Given the description of an element on the screen output the (x, y) to click on. 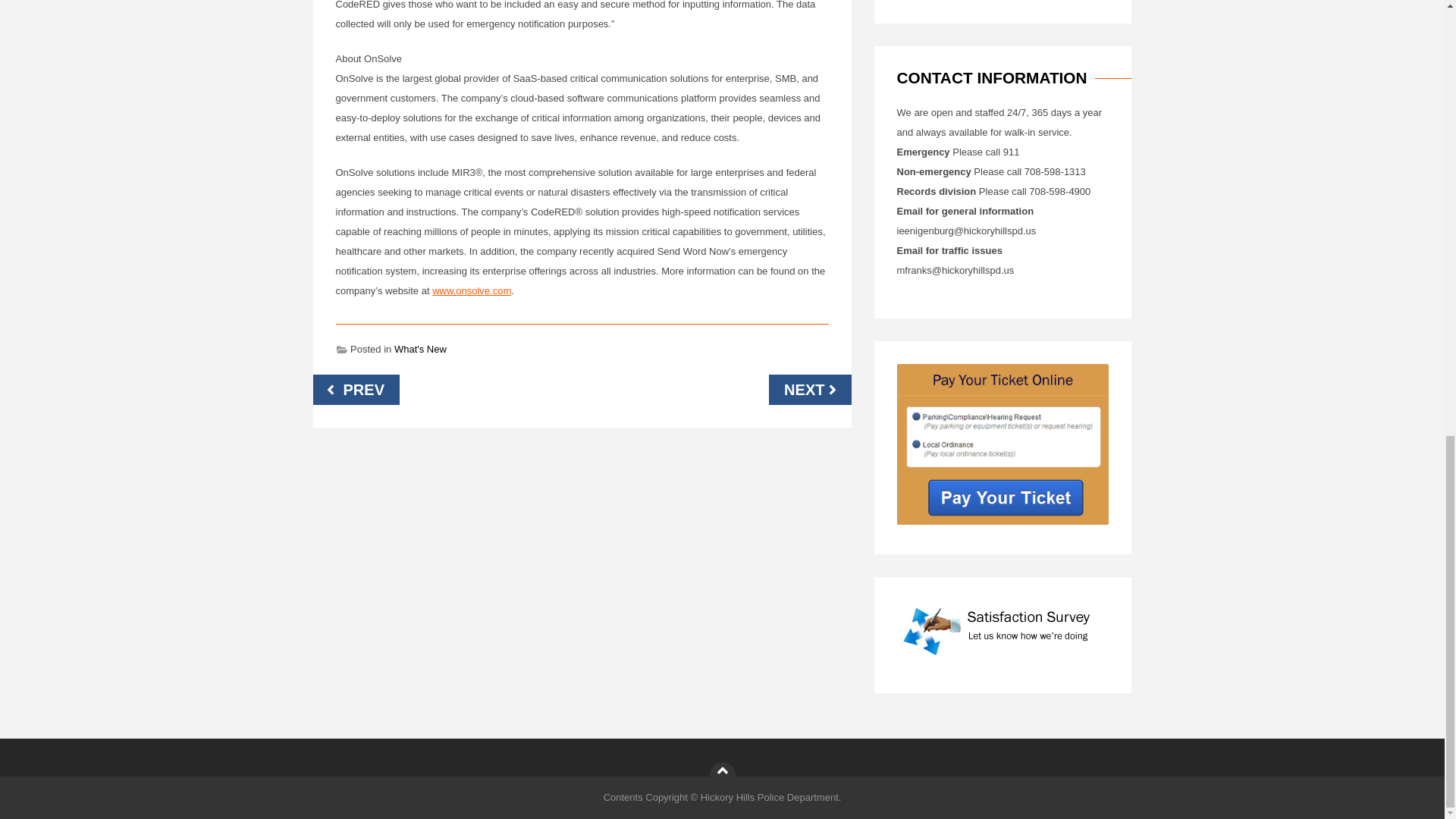
PREV (355, 389)
www.onsolve.com (471, 290)
What's New (420, 348)
NEXT (809, 389)
